Given the description of an element on the screen output the (x, y) to click on. 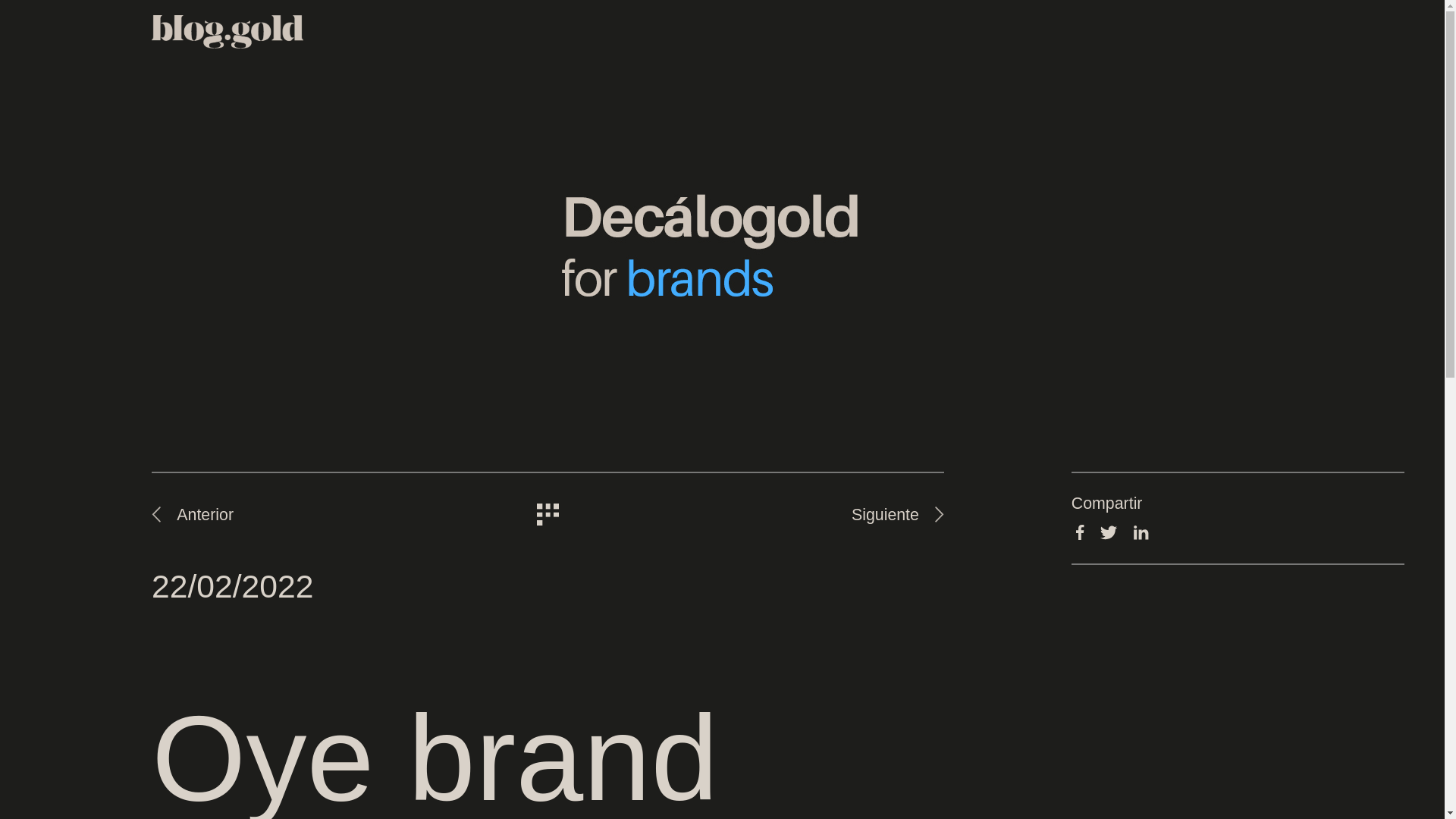
Anterior Element type: text (192, 514)
Siguiente Element type: text (897, 514)
